Given the description of an element on the screen output the (x, y) to click on. 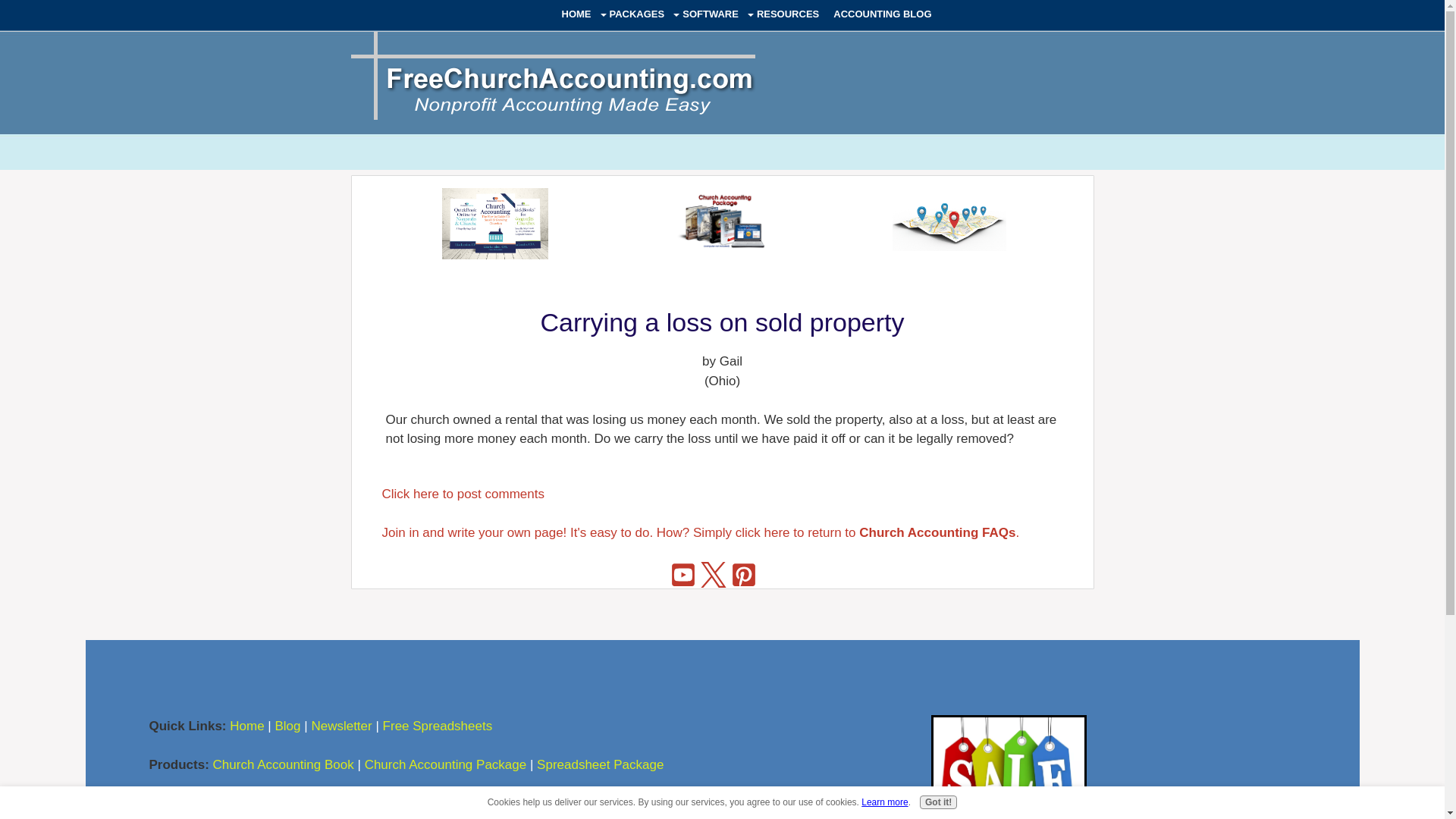
Contact (412, 803)
Subscribe to our YouTube Channel (683, 574)
Blog (287, 726)
Follow us on X (713, 574)
Go to Web Pages on FreeChurchAccounting (949, 246)
Free Spreadsheets  (439, 726)
Church Accounting Package (446, 764)
ACCOUNTING BLOG (883, 13)
Go to Church Accounting Package (721, 253)
Go to Church Accounting Package (1008, 816)
HOME (576, 13)
Spreadsheet Package (600, 764)
Click here to post comments (462, 493)
Church Accounting Book (282, 764)
